Given the description of an element on the screen output the (x, y) to click on. 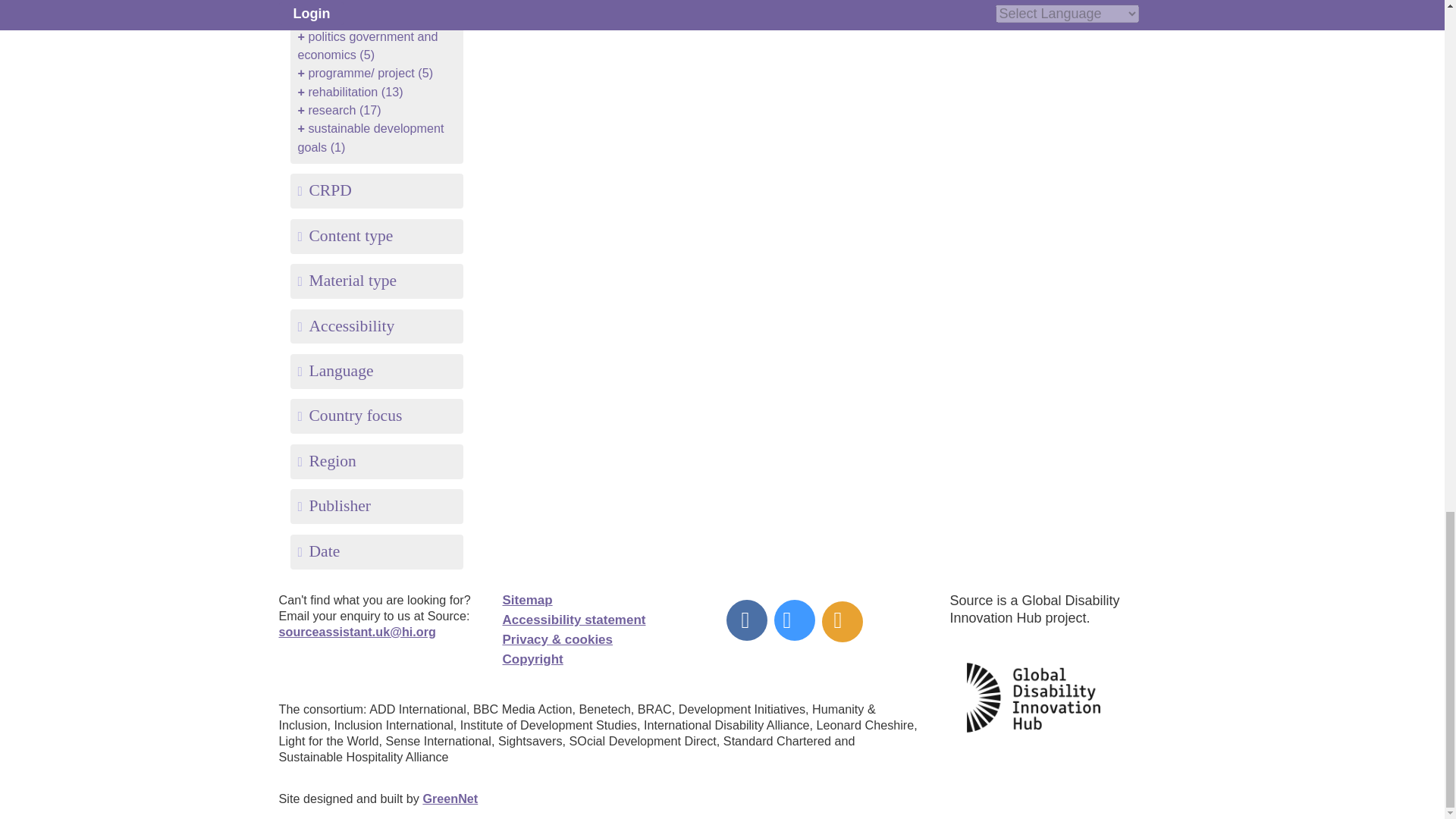
Source on Facebook (746, 622)
Global Disability Innovation Hub (1032, 647)
RSS Feed (837, 622)
Source on Twitter (791, 622)
